Given the description of an element on the screen output the (x, y) to click on. 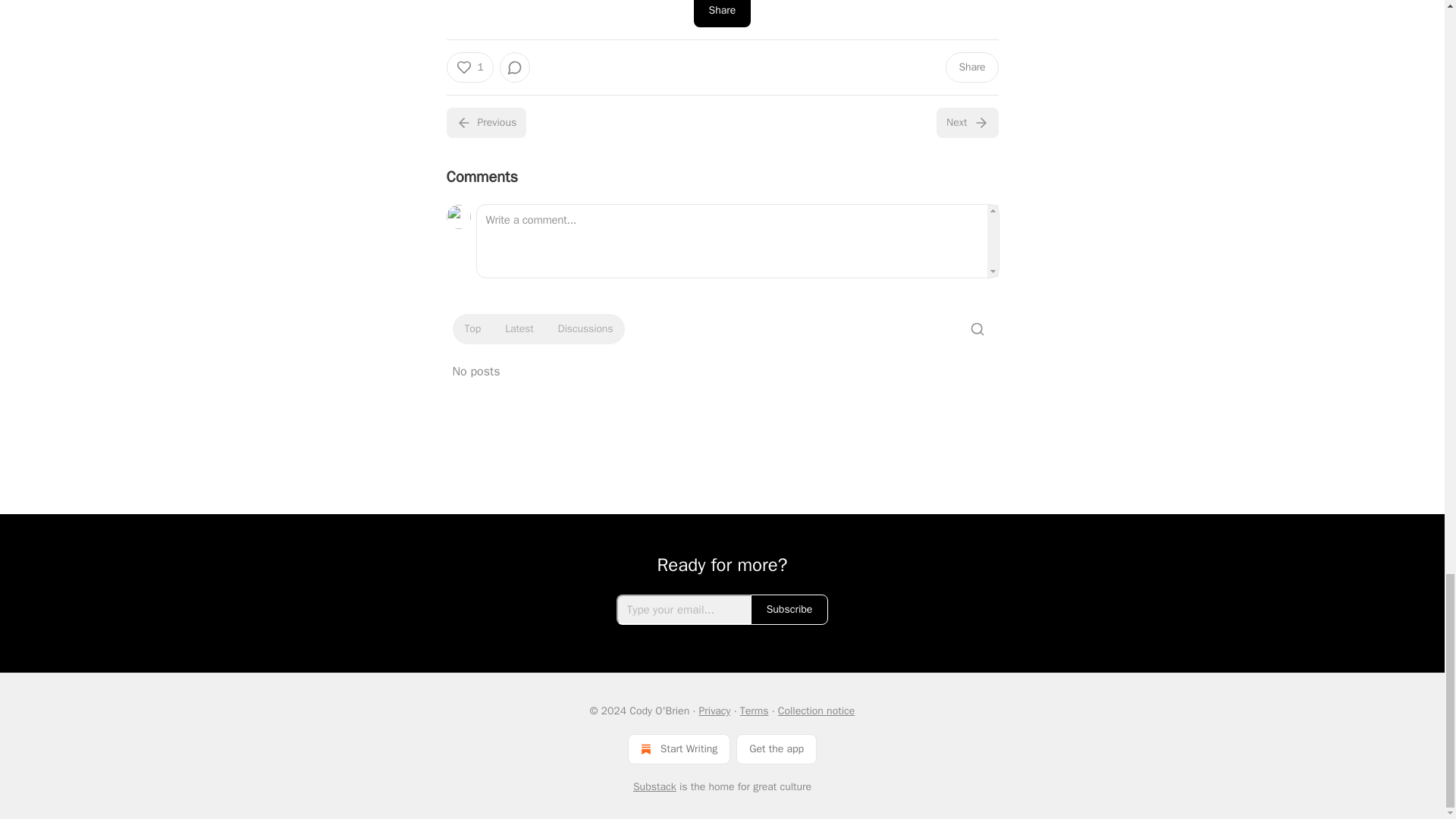
Share (722, 13)
1 (469, 67)
Share (970, 67)
Previous (485, 122)
Top (471, 328)
Next (966, 122)
Latest (518, 328)
